Given the description of an element on the screen output the (x, y) to click on. 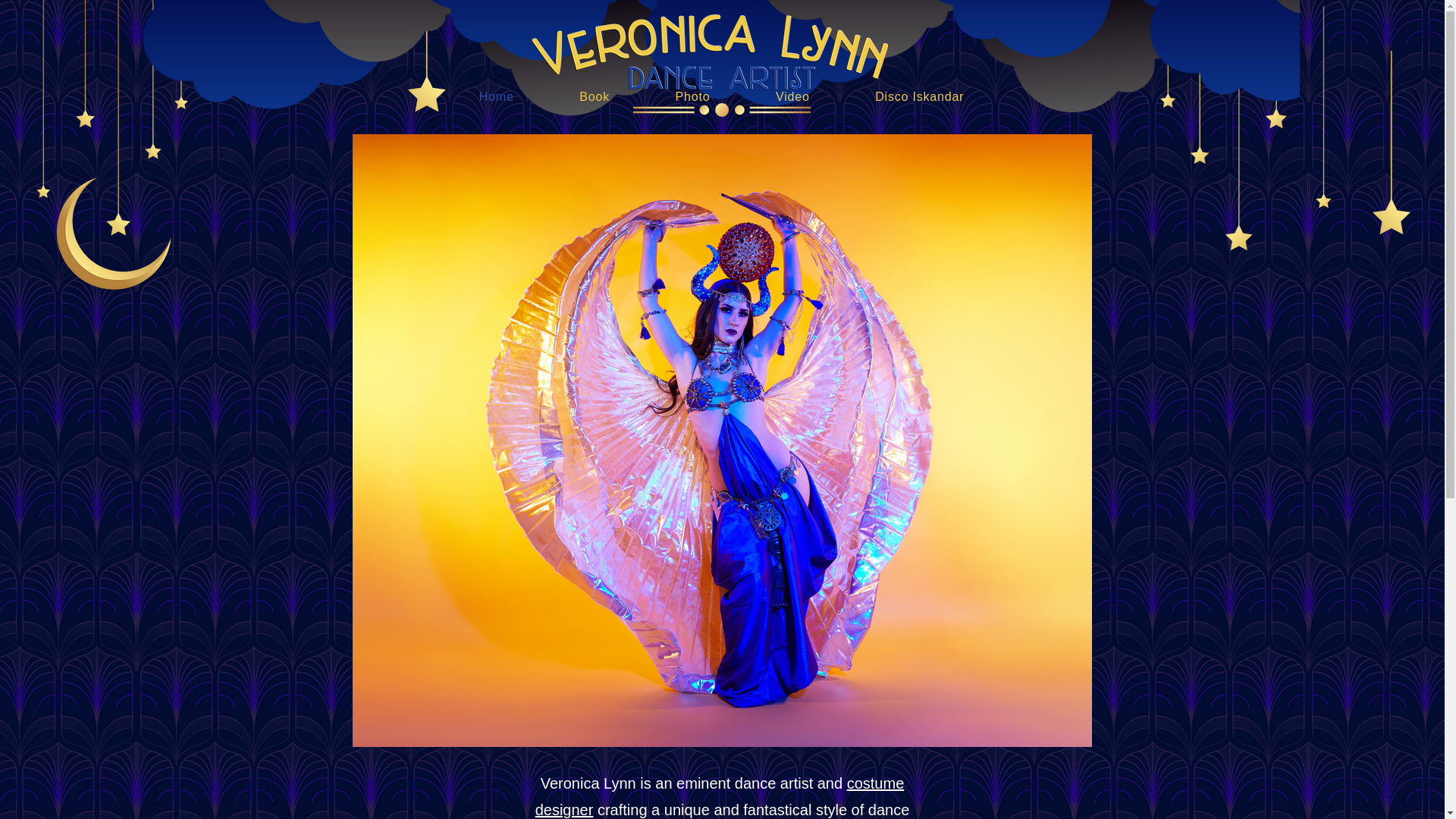
Book (594, 96)
Disco Iskandar (919, 96)
Home (495, 96)
costume designer (719, 796)
Video (792, 96)
Photo (692, 96)
